Given the description of an element on the screen output the (x, y) to click on. 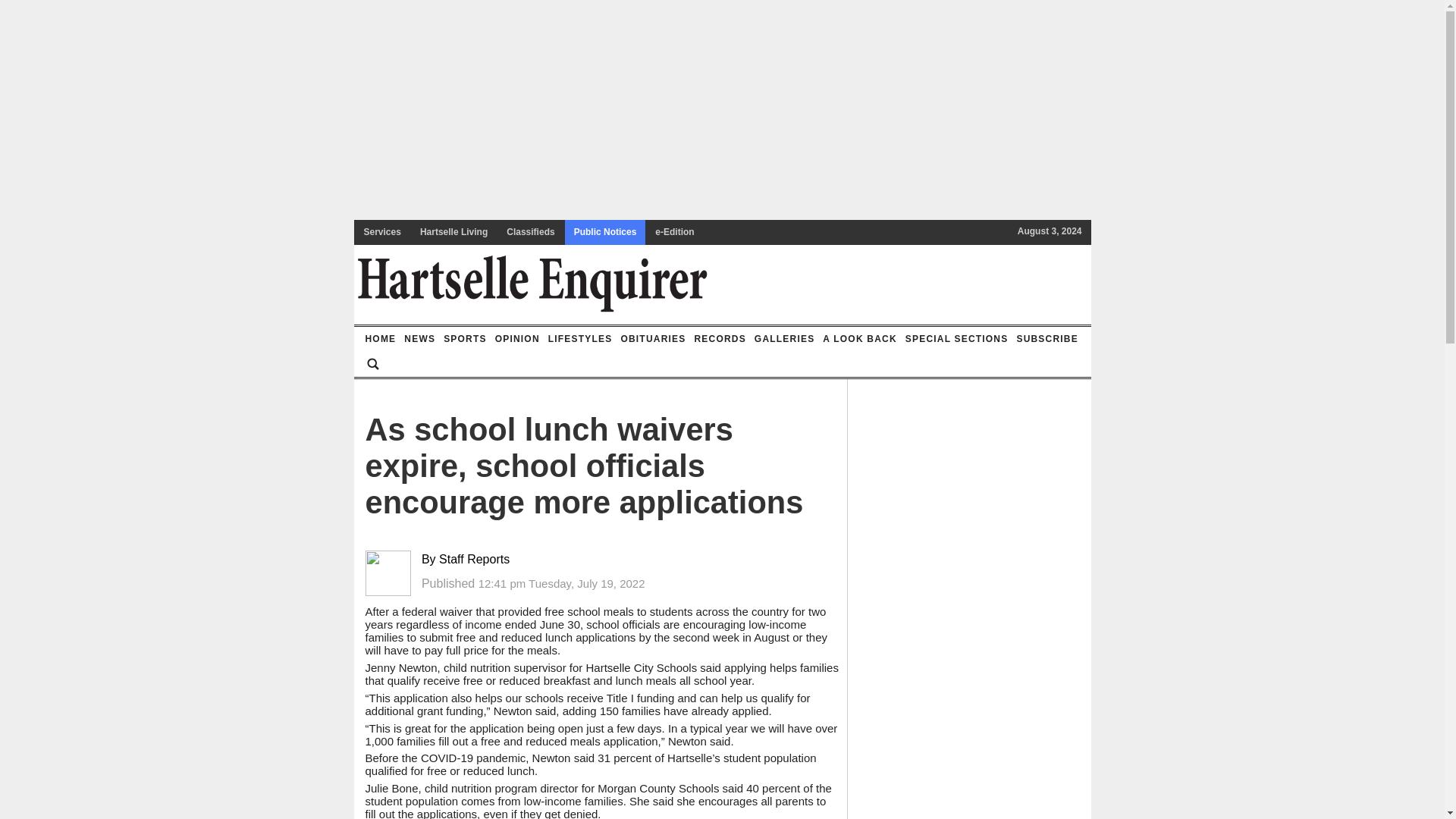
Hartselle Living (453, 232)
Public Notices (605, 232)
e-Edition (674, 232)
Services (382, 232)
Classifieds (530, 232)
